Given the description of an element on the screen output the (x, y) to click on. 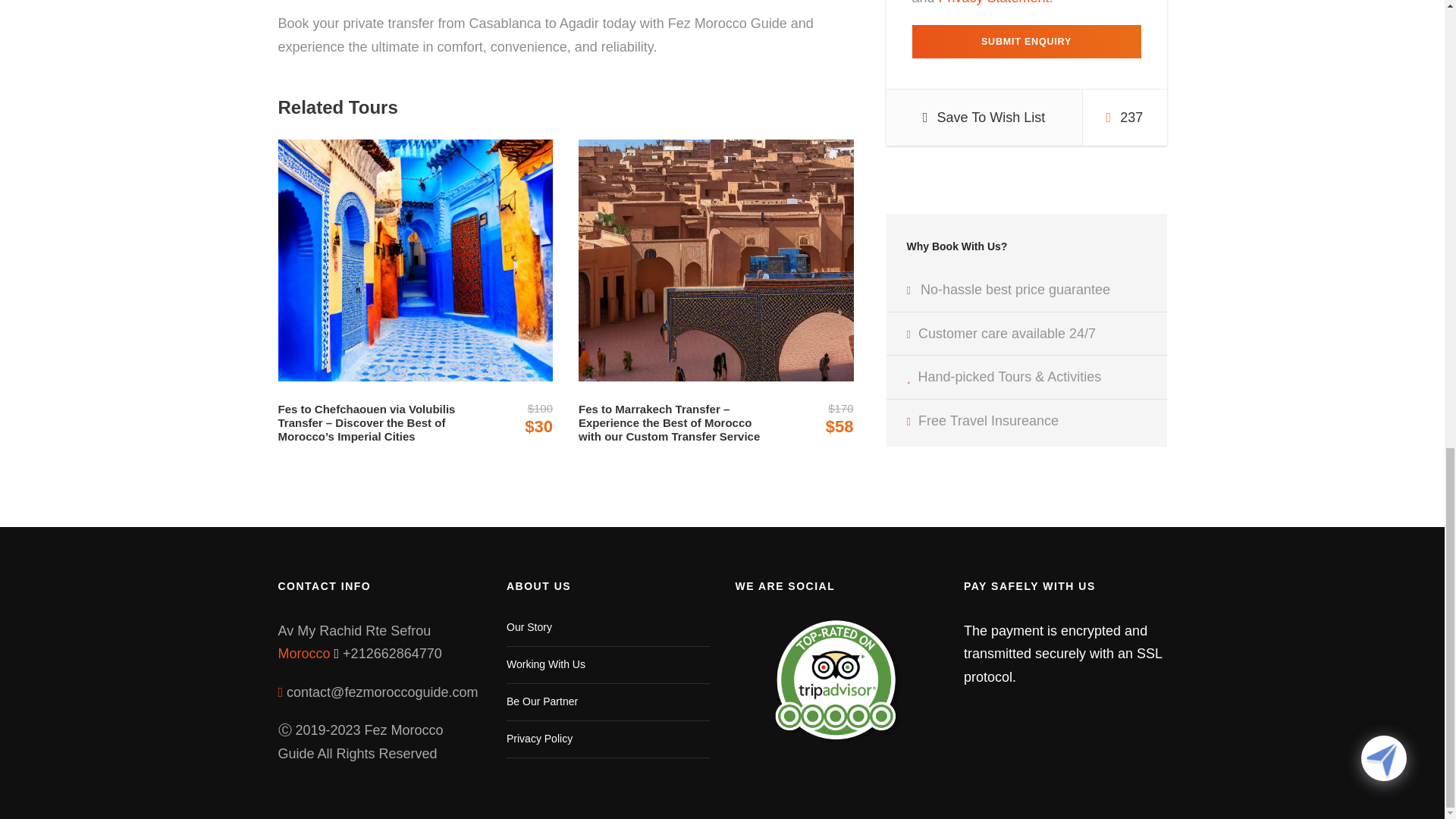
Submit Enquiry (1025, 41)
